Given the description of an element on the screen output the (x, y) to click on. 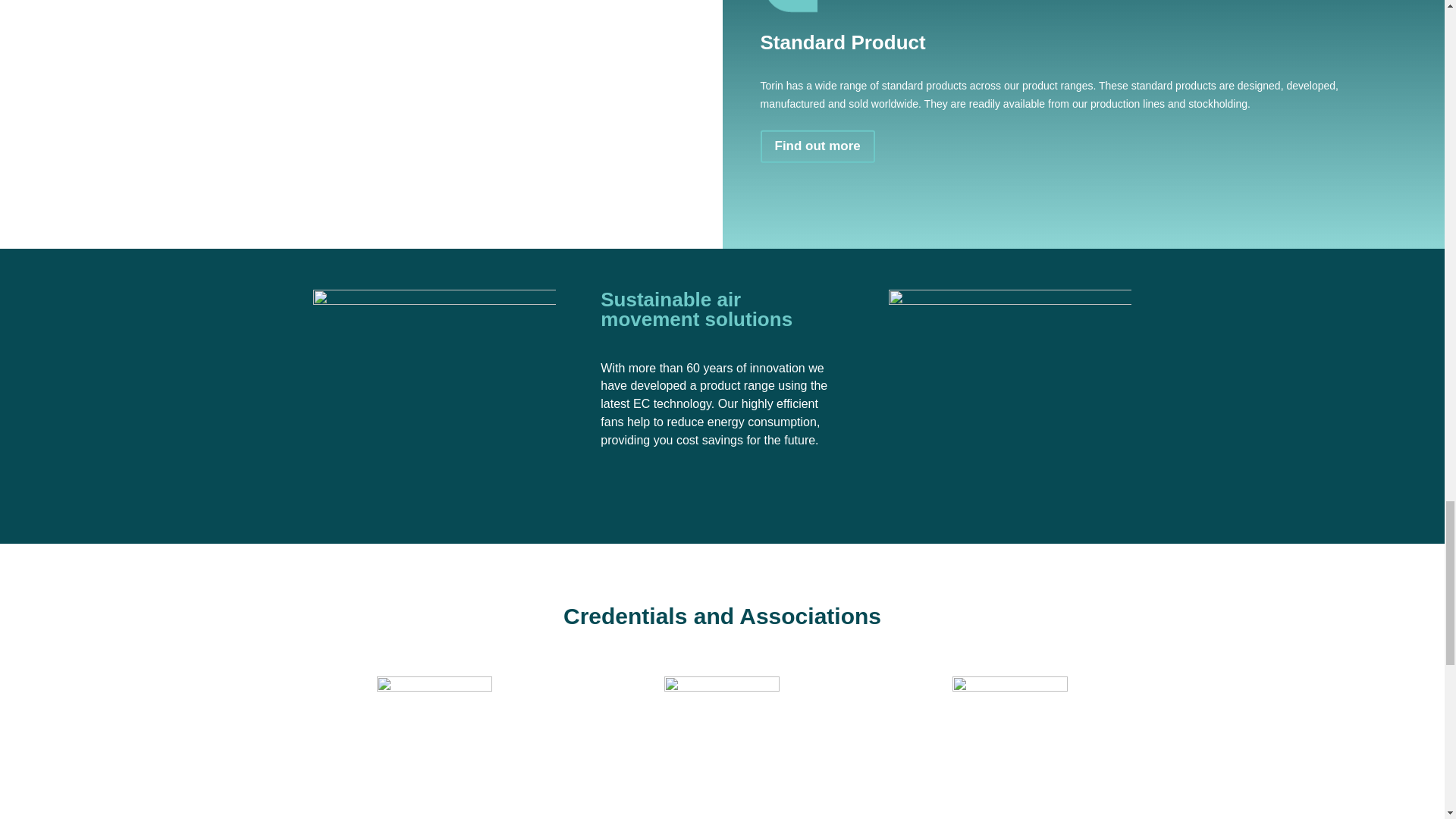
Product-side-profile (1009, 395)
Credentials - EC (434, 733)
Credentials - EVIA (1009, 733)
Torin-Logo-Mark-Light-Green (790, 7)
Credentials - ErP (720, 733)
60-years-of-innovation (433, 395)
